Given the description of an element on the screen output the (x, y) to click on. 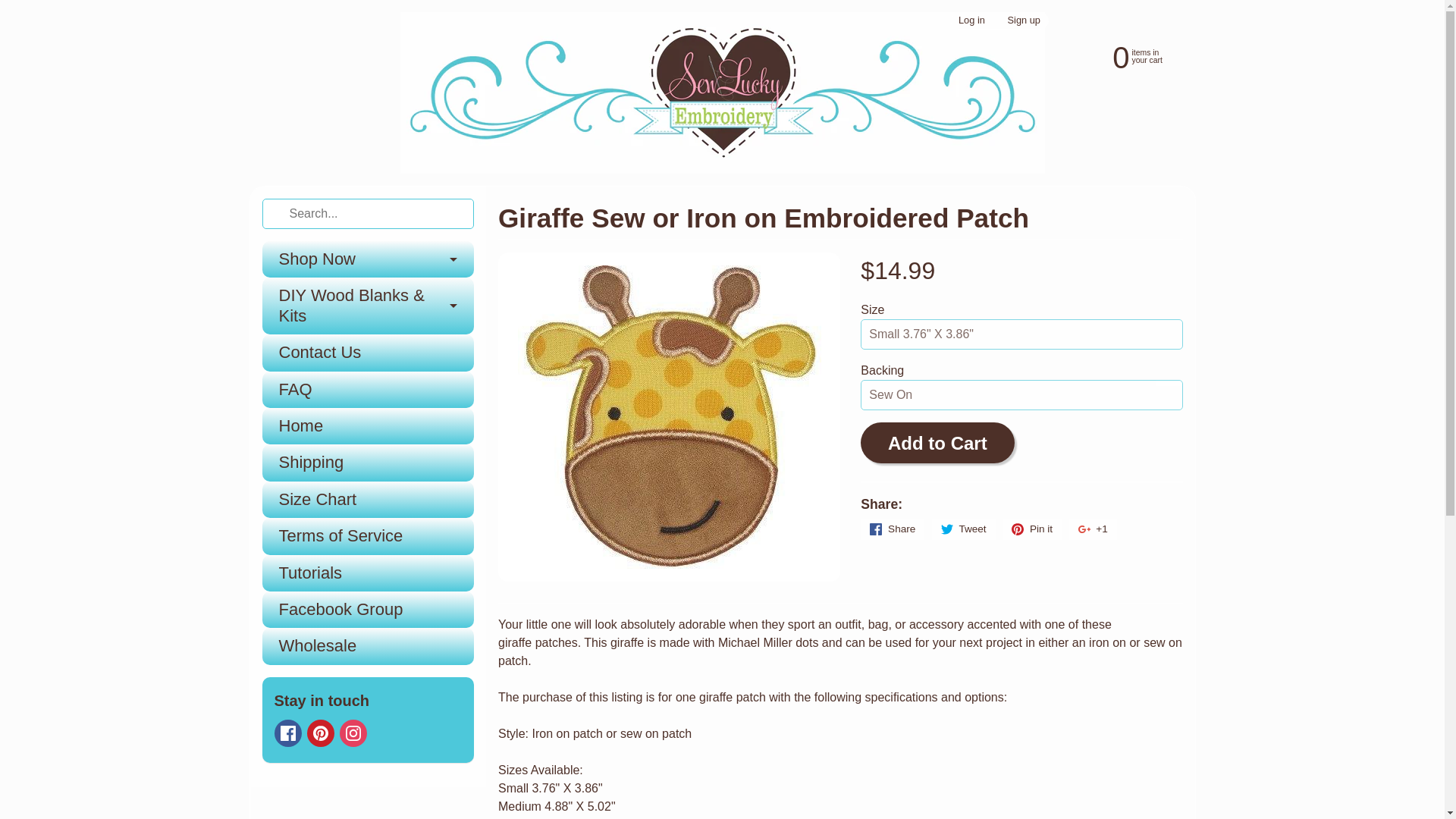
Sign up (1024, 20)
Shop Now (368, 258)
Sew Lucky Embroidery (722, 92)
Log in (970, 20)
